Given the description of an element on the screen output the (x, y) to click on. 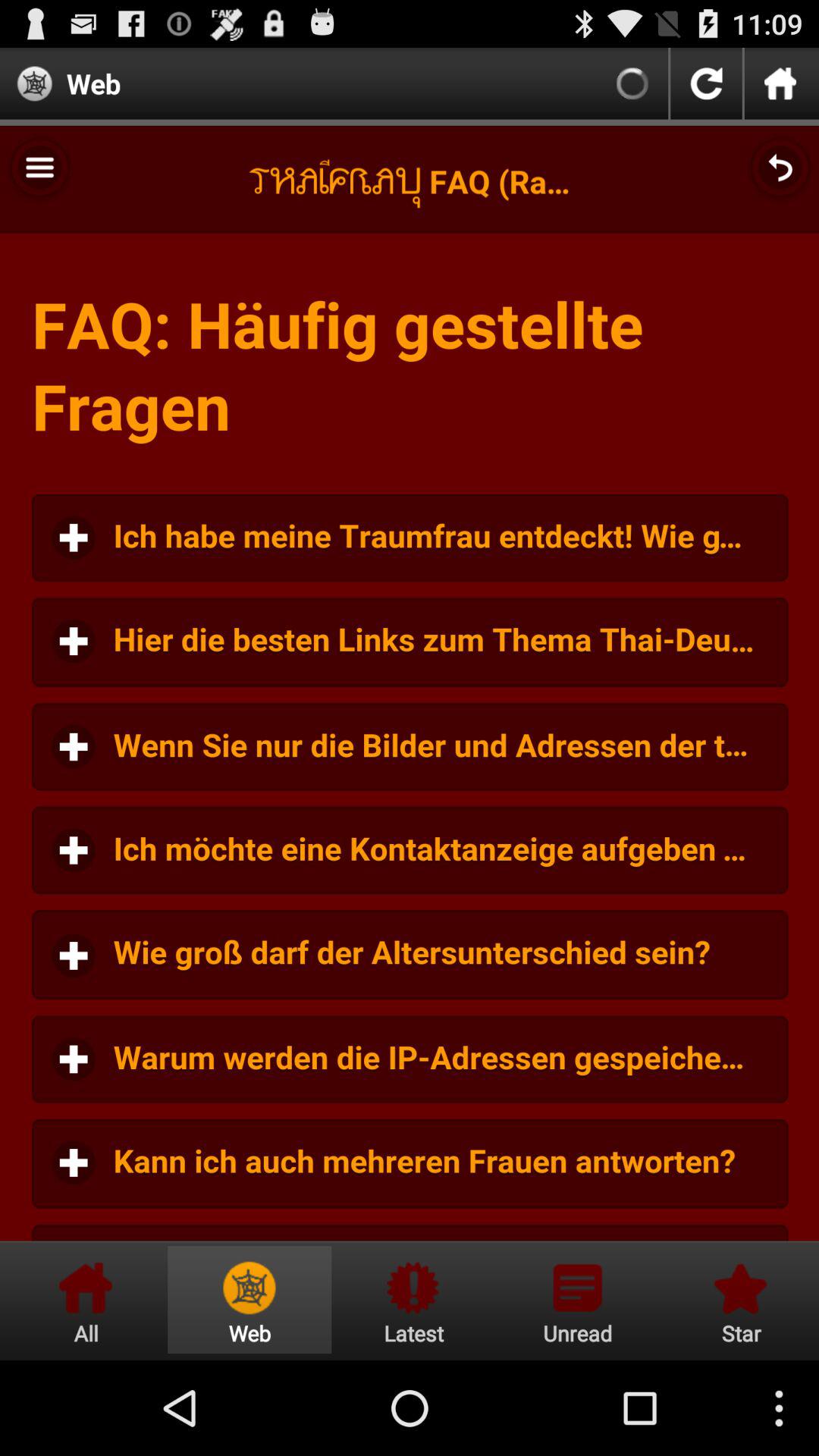
refresh page (706, 83)
